Given the description of an element on the screen output the (x, y) to click on. 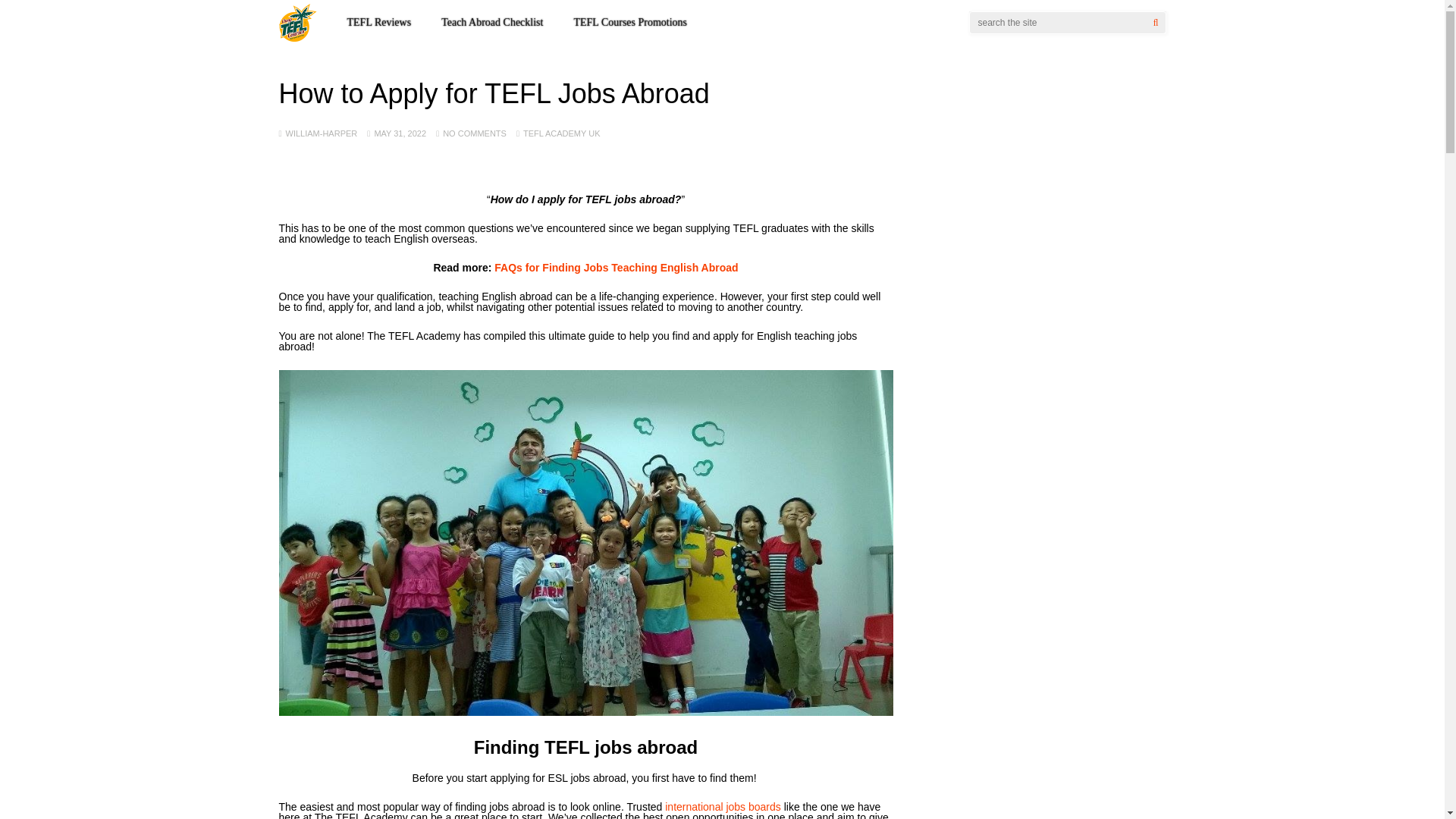
Cheap TEFL Courses (298, 38)
NO COMMENTS (474, 133)
TEFL Courses Promotions (630, 22)
WILLIAM-HARPER (321, 133)
TEFL ACADEMY UK (560, 133)
FAQs for Finding Jobs Teaching English Abroad (616, 267)
international jobs boards (722, 806)
Teach Abroad Checklist (492, 22)
TEFL Reviews (379, 22)
